Given the description of an element on the screen output the (x, y) to click on. 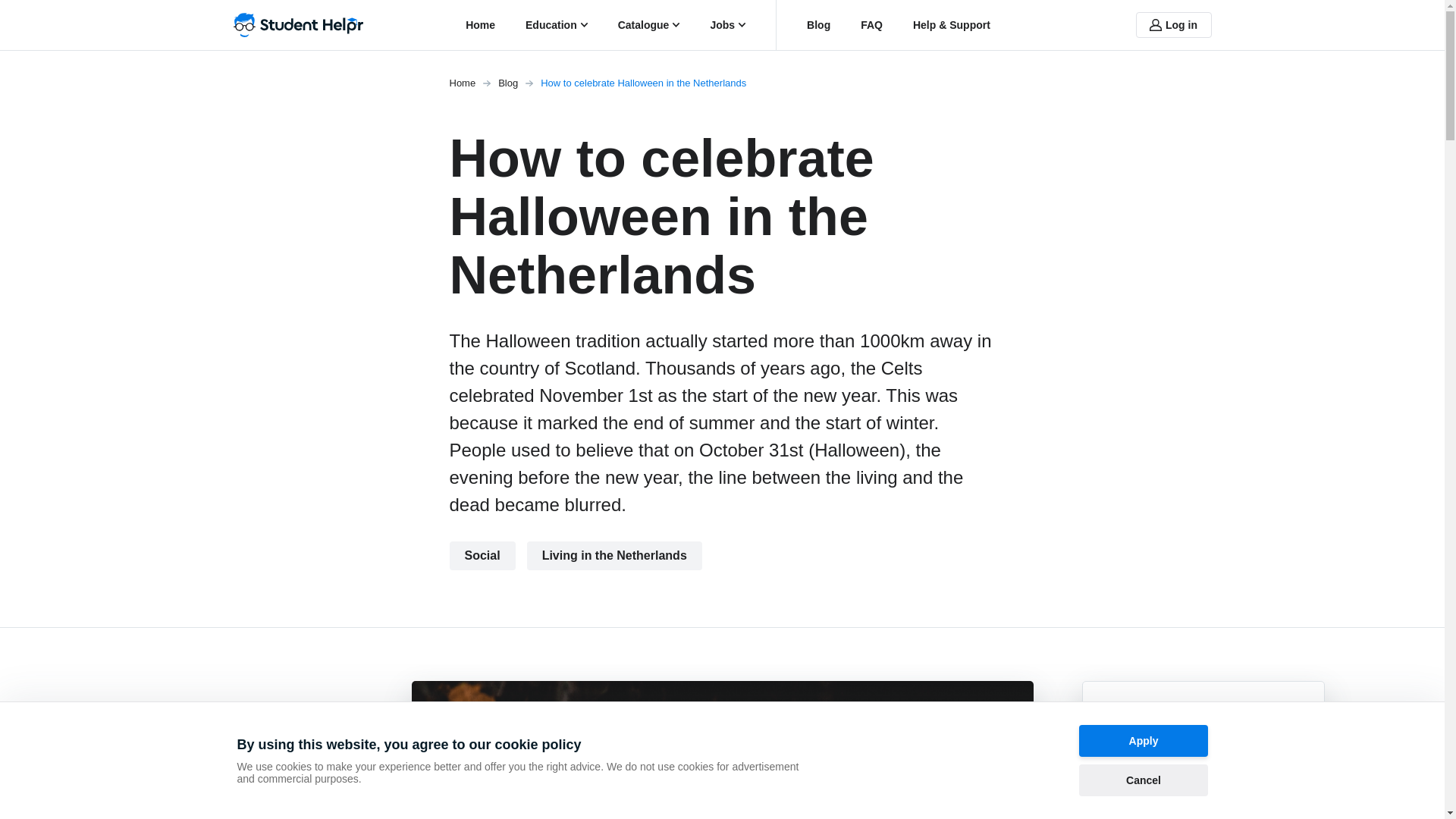
Catalogue (648, 24)
Home (480, 24)
Education (556, 24)
